Given the description of an element on the screen output the (x, y) to click on. 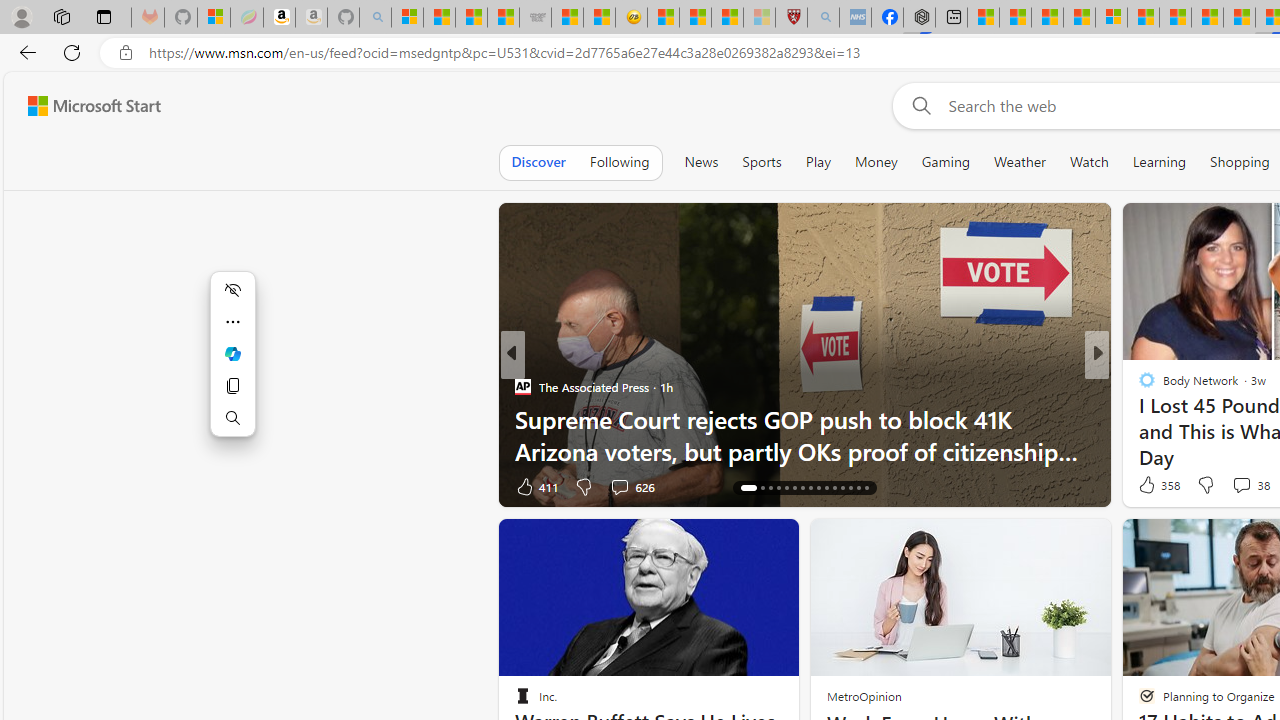
AutomationID: tab-25 (825, 487)
View comments 4 Comment (1234, 486)
AutomationID: tab-26 (833, 487)
Sky Blue Bikes (1167, 418)
More actions (232, 321)
View comments 38 Comment (1241, 485)
View comments 167 Comment (1247, 486)
